Given the description of an element on the screen output the (x, y) to click on. 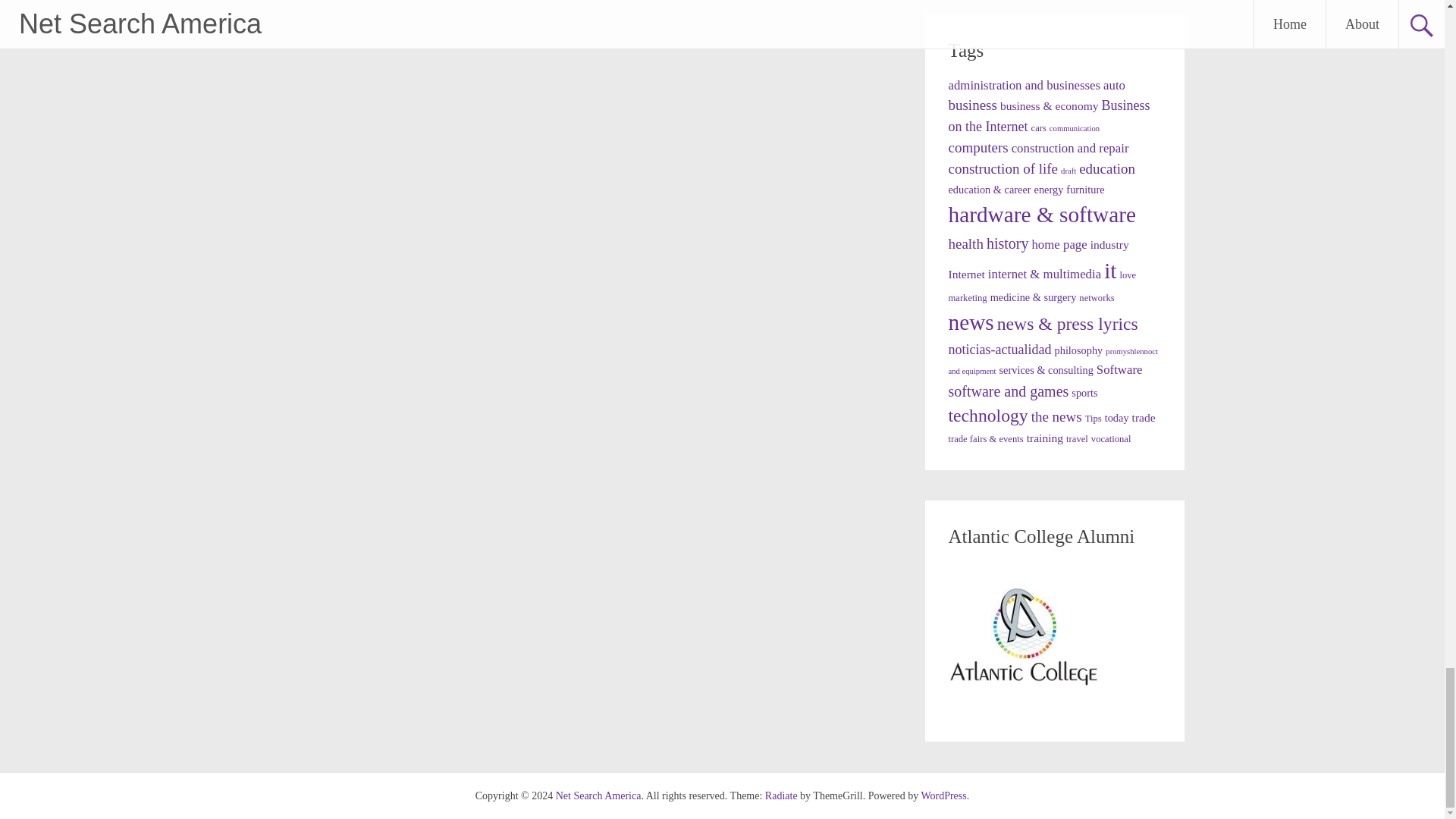
Net Search America (599, 795)
WordPress (943, 795)
Radiate (781, 795)
